Given the description of an element on the screen output the (x, y) to click on. 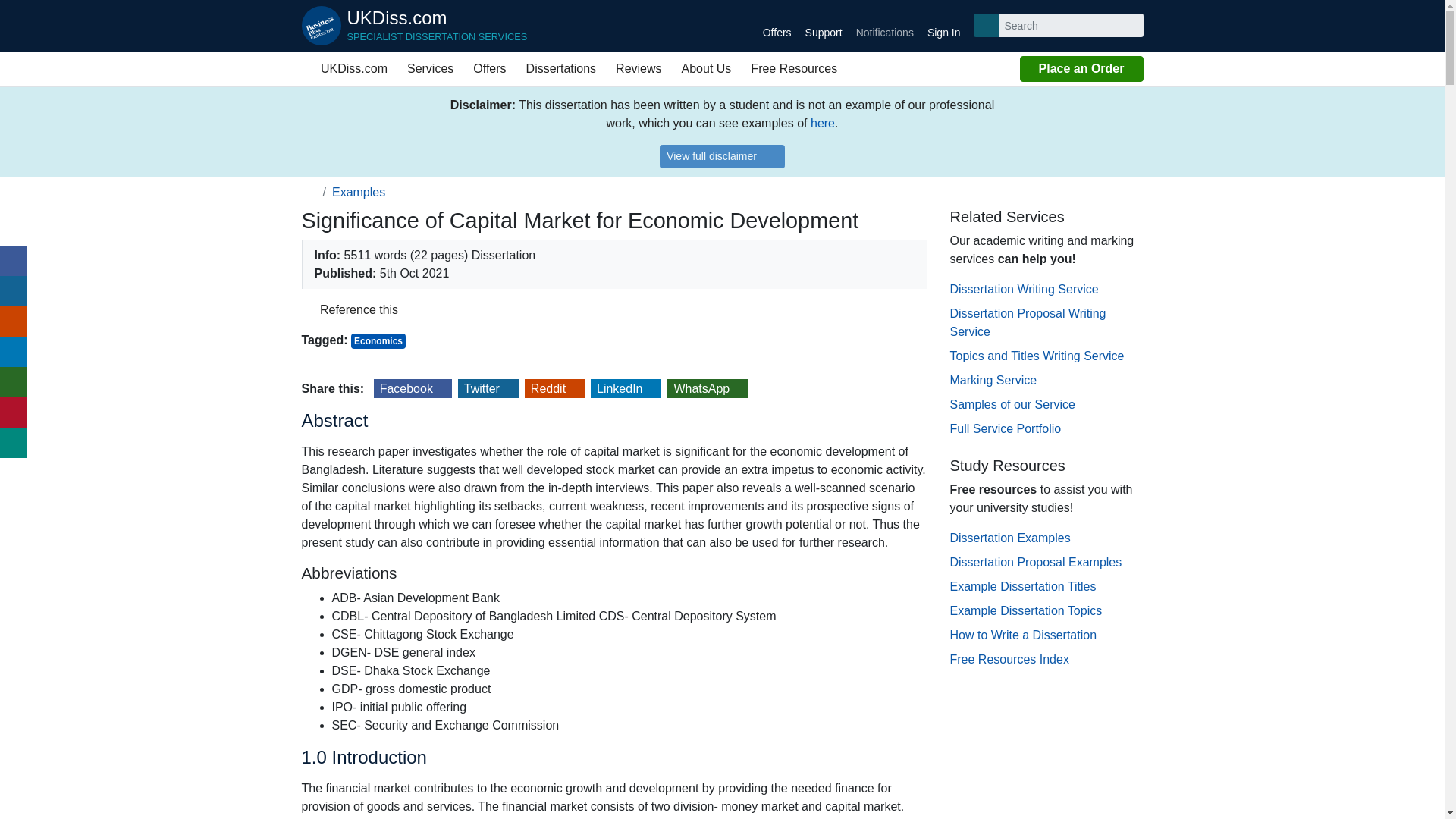
Offers (776, 25)
Free Resources (794, 68)
Notifications (884, 25)
examples of our professional work (822, 123)
Homepage (414, 25)
Services (307, 68)
homepage link (430, 68)
Place an Order (309, 192)
Go to the homepage (1081, 68)
